Given the description of an element on the screen output the (x, y) to click on. 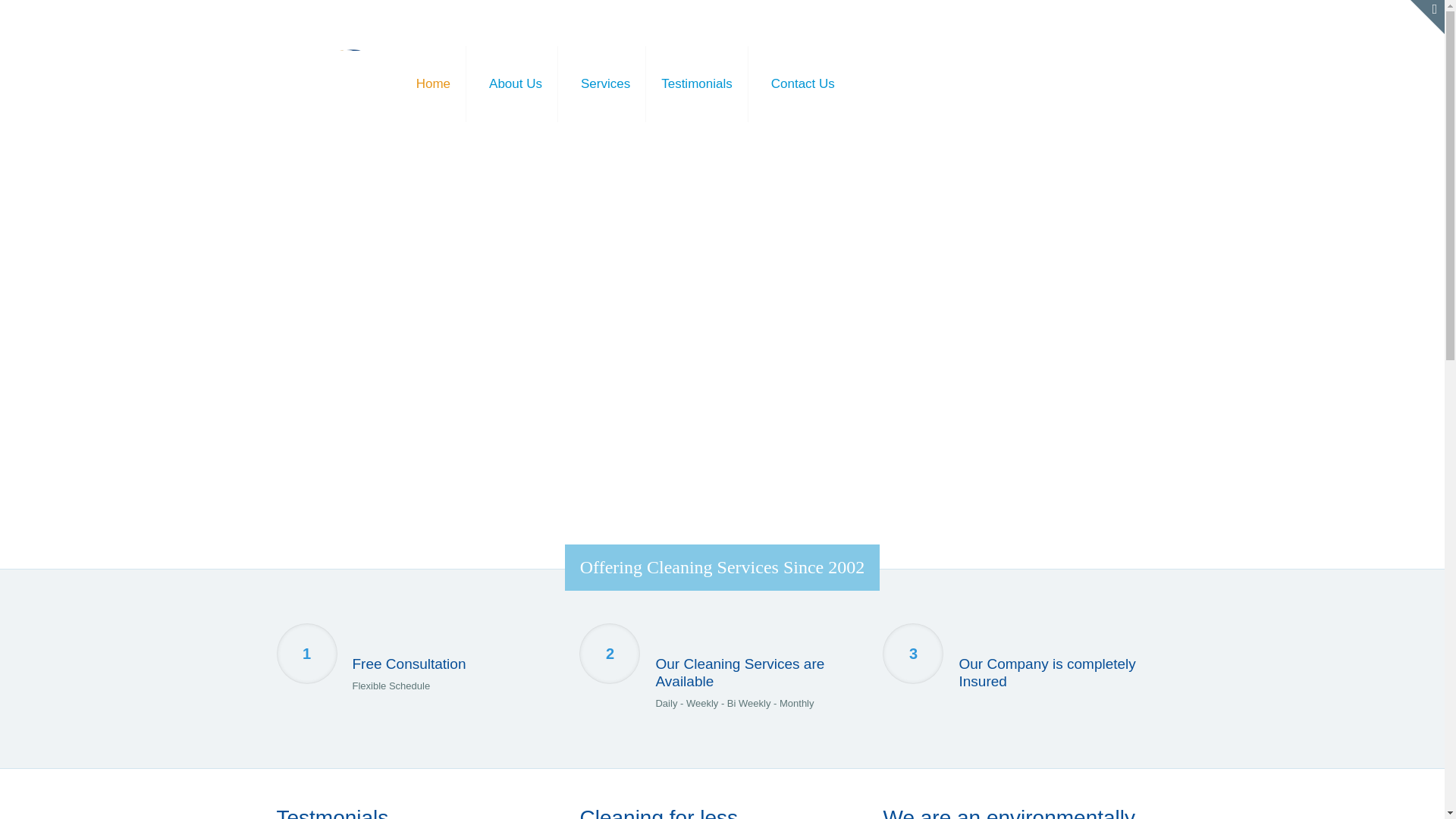
Contact Us (802, 83)
Marli's Cleaning (330, 68)
Services (606, 83)
Testimonials (697, 83)
About Us (515, 83)
